Given the description of an element on the screen output the (x, y) to click on. 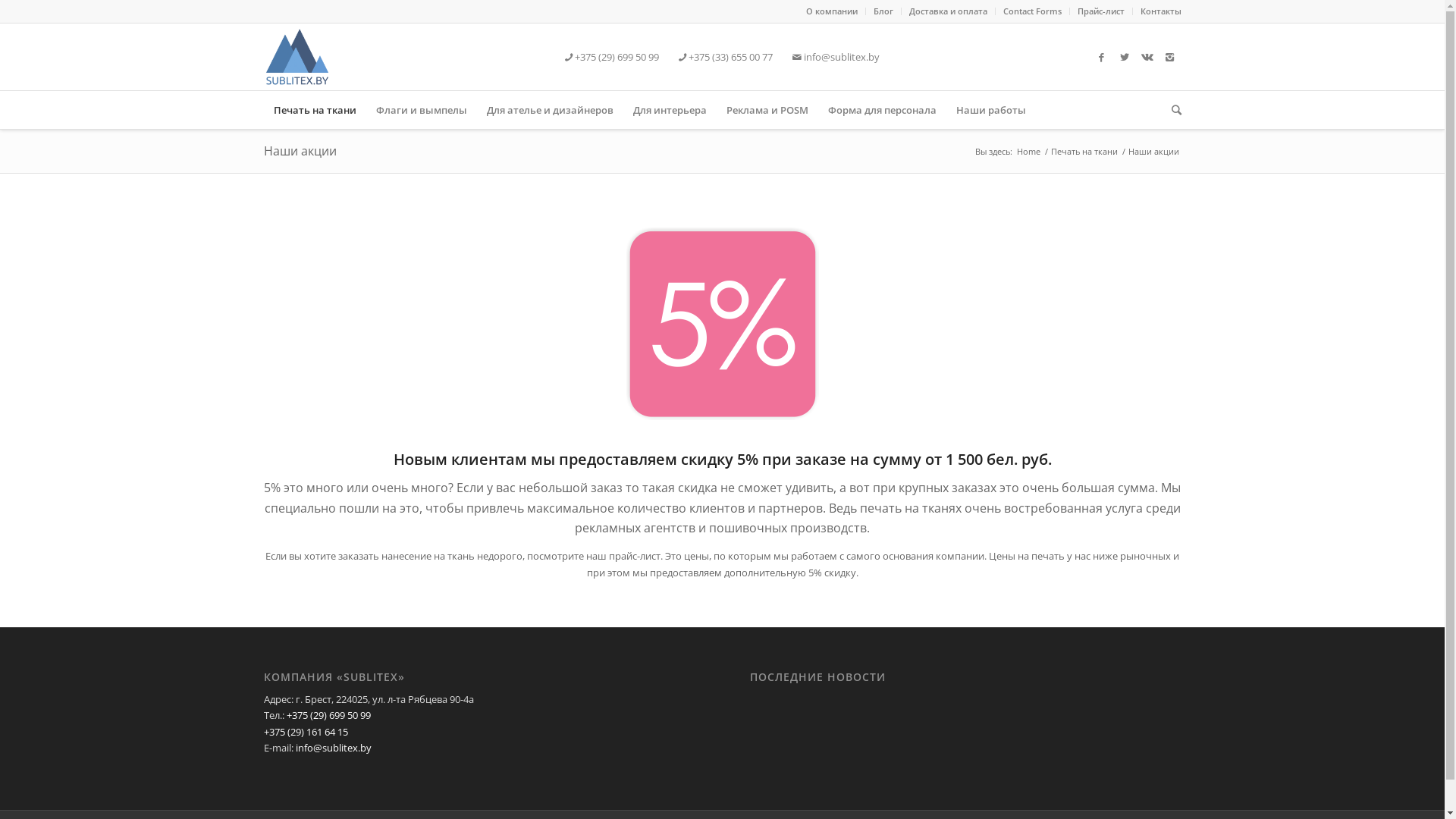
Instagram Element type: hover (1169, 56)
+375 (33) 655 00 77 Element type: text (725, 56)
+375 (29) 699 50 99 Element type: text (611, 56)
+375 (29) 161 64 15 Element type: text (305, 731)
Facebook Element type: hover (1101, 56)
Contact Forms Element type: text (1031, 10)
Twitter Element type: hover (1124, 56)
info@sublitex.by Element type: text (835, 56)
+375 (29) 699 50 99 Element type: text (328, 714)
Vk Element type: hover (1146, 56)
Home Element type: text (1028, 150)
info@sublitex.by Element type: text (333, 747)
